Given the description of an element on the screen output the (x, y) to click on. 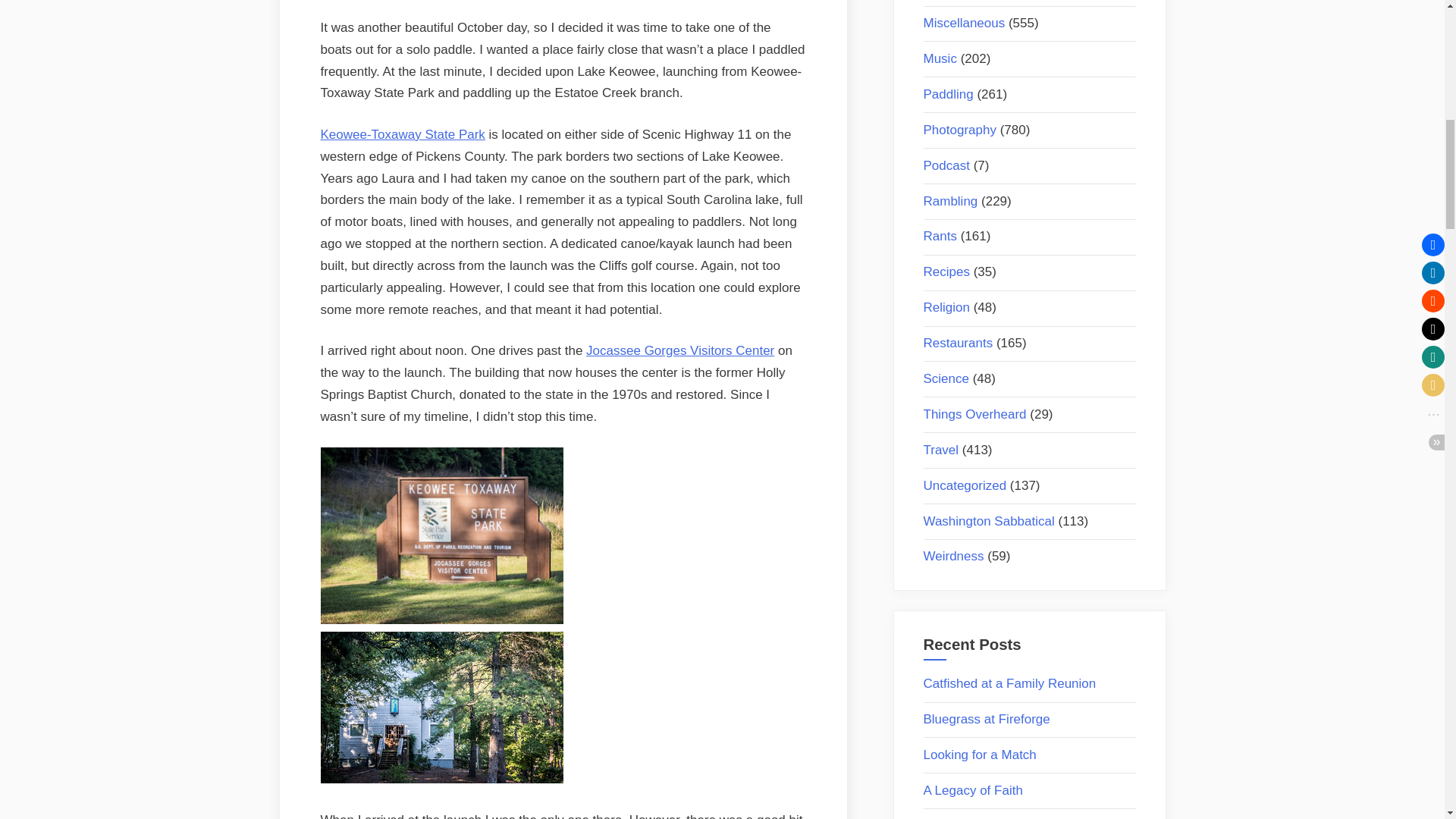
Jocassee Gorges Visitors Center (680, 350)
Keowee-Toxaway State Park by RandomConnections, on Flickr (441, 619)
Keowee-Toxaway State Park (402, 134)
